Given the description of an element on the screen output the (x, y) to click on. 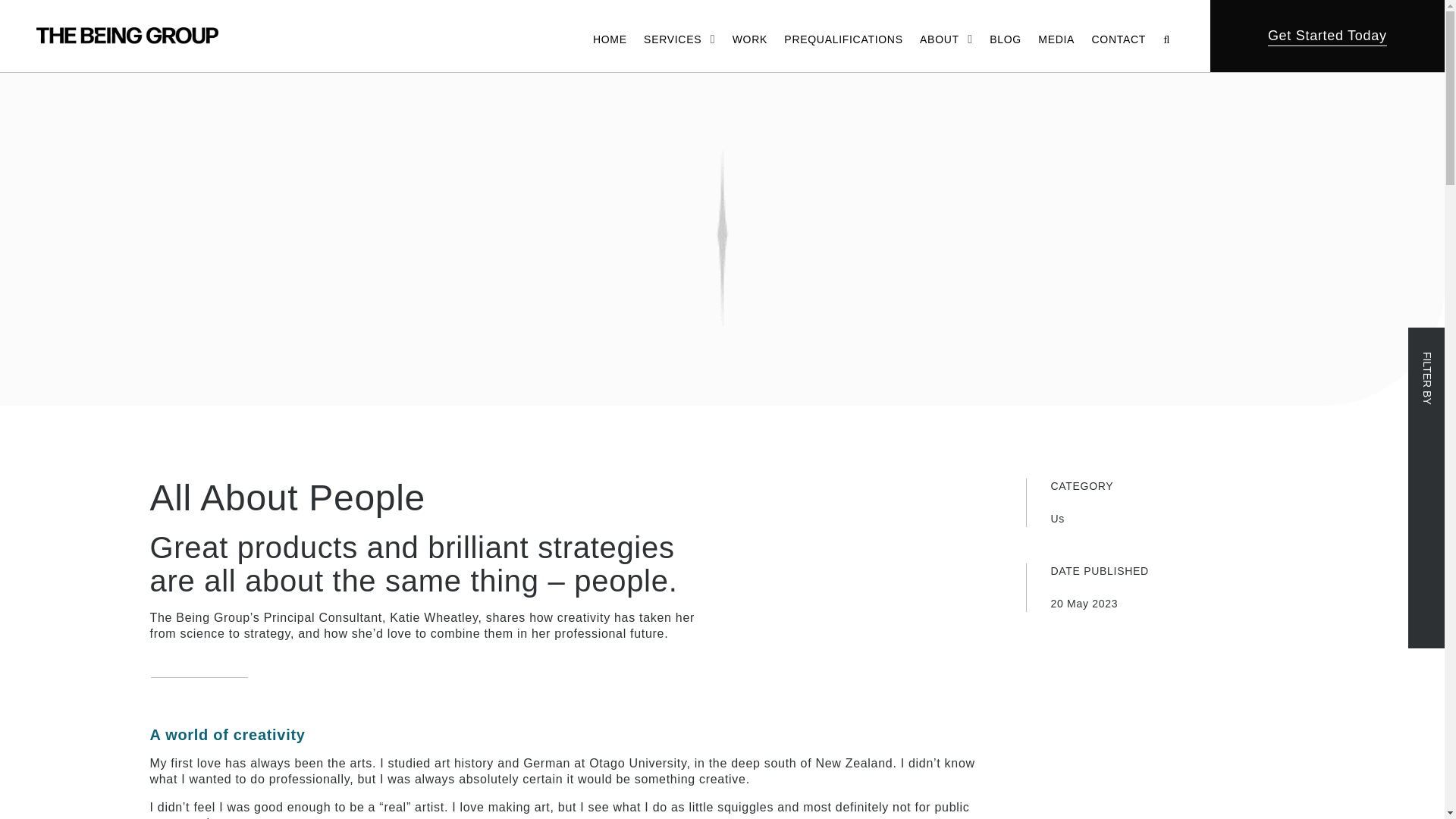
Get Started Today (1327, 35)
Search (1385, 56)
CONTACT (1119, 38)
BLOG (1006, 38)
HOME (609, 38)
SERVICES (672, 38)
ABOUT (939, 38)
MEDIA (1056, 38)
The Being Group (127, 34)
WORK (749, 38)
